Given the description of an element on the screen output the (x, y) to click on. 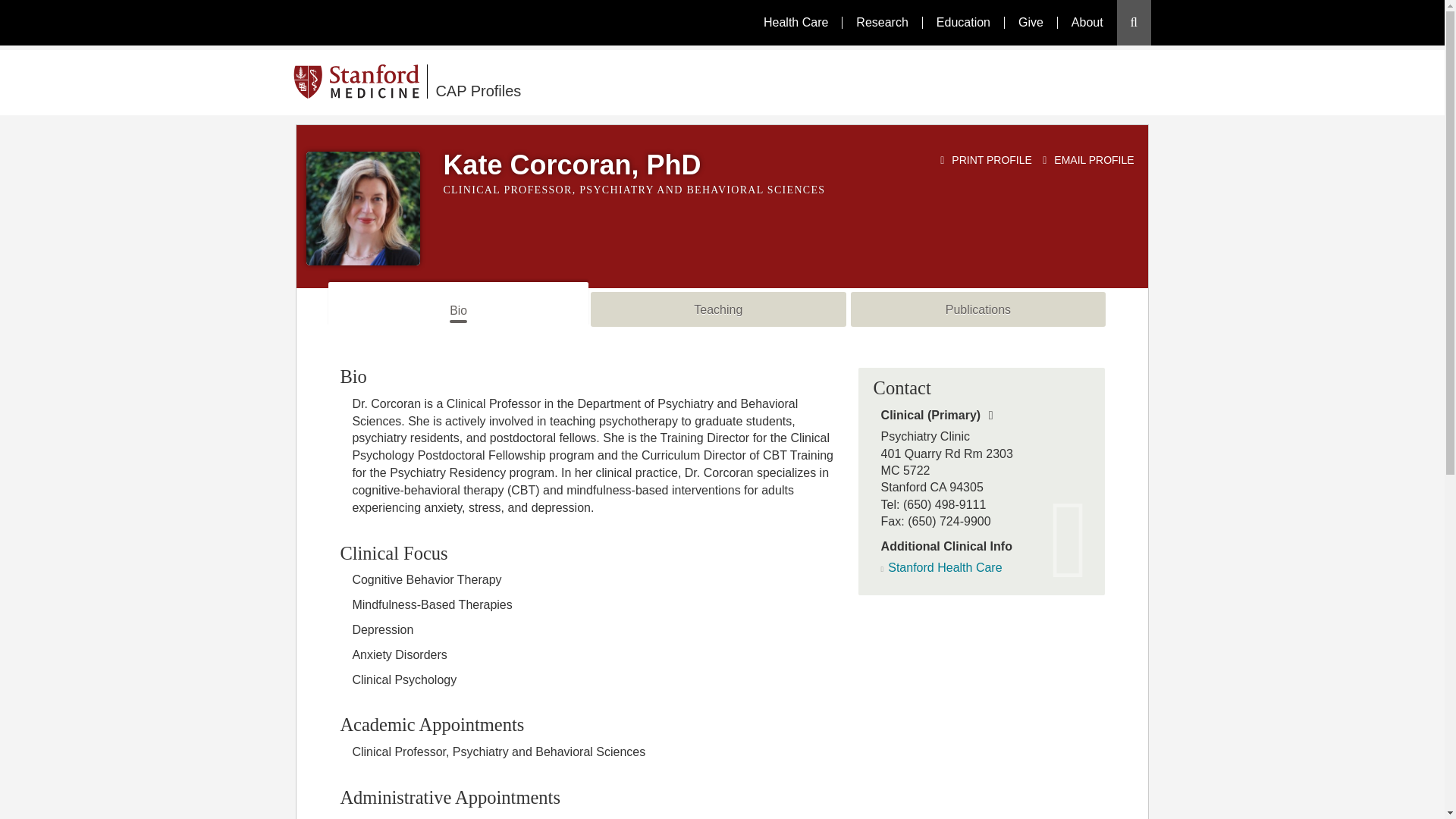
CAP Profiles (616, 81)
Research (881, 22)
Health Care (795, 22)
Stanford Medicine (361, 81)
